Given the description of an element on the screen output the (x, y) to click on. 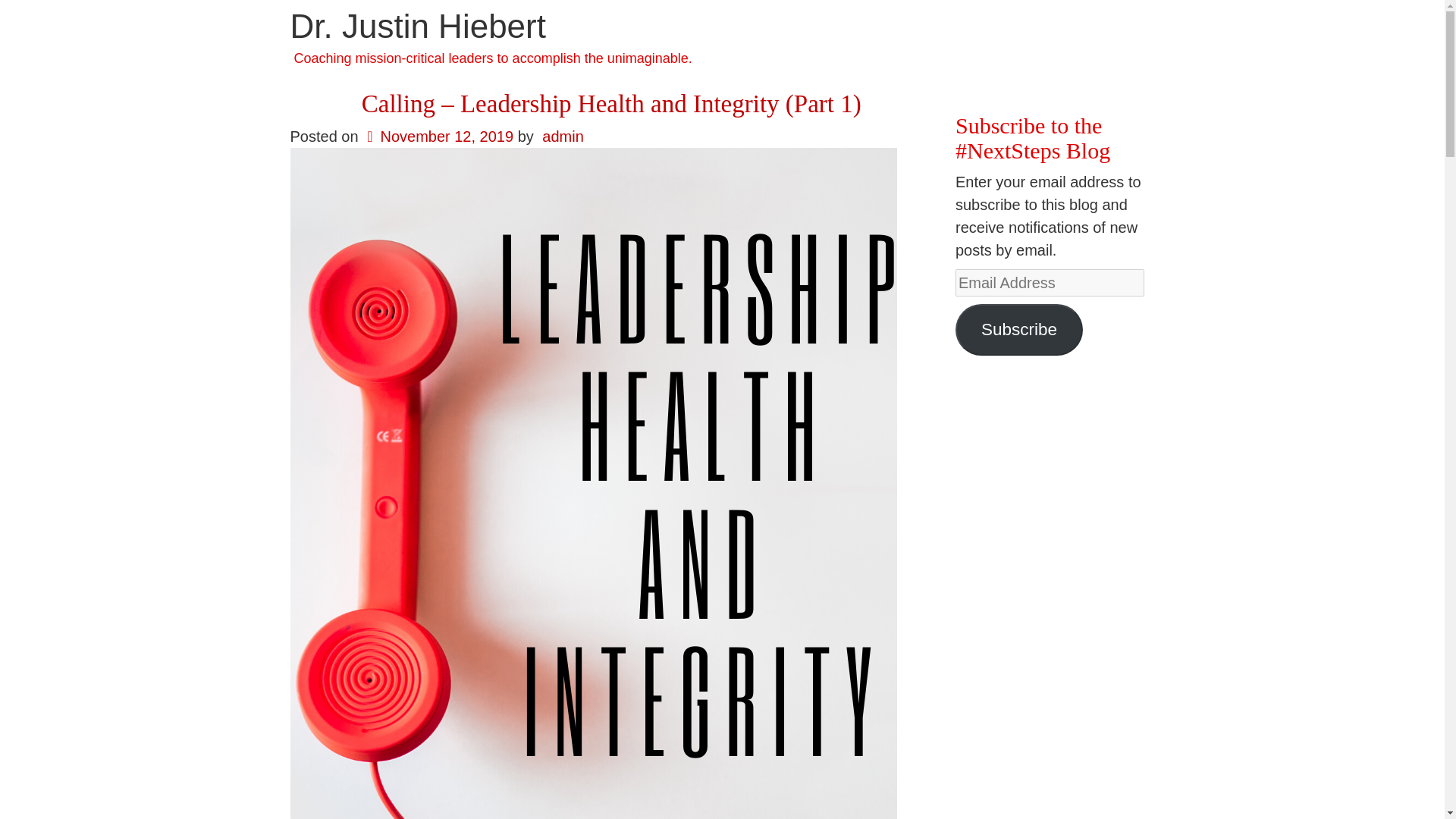
November 12, 2019 (437, 135)
Subscribe (1019, 329)
Dr. Justin Hiebert (416, 26)
admin (562, 135)
